Given the description of an element on the screen output the (x, y) to click on. 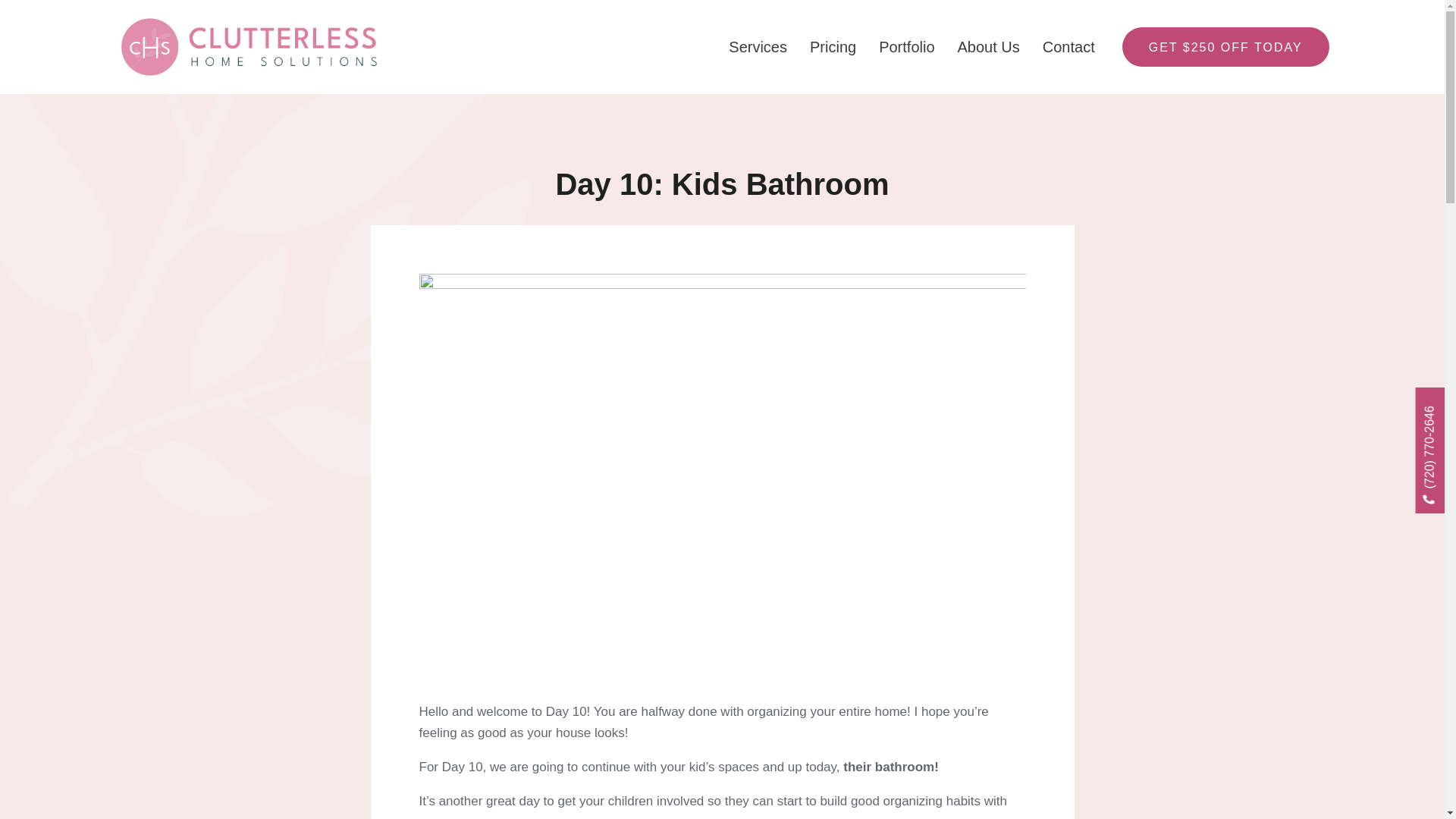
Pricing (832, 46)
Contact (1068, 46)
Portfolio (906, 46)
Services (758, 46)
About Us (989, 46)
